Given the description of an element on the screen output the (x, y) to click on. 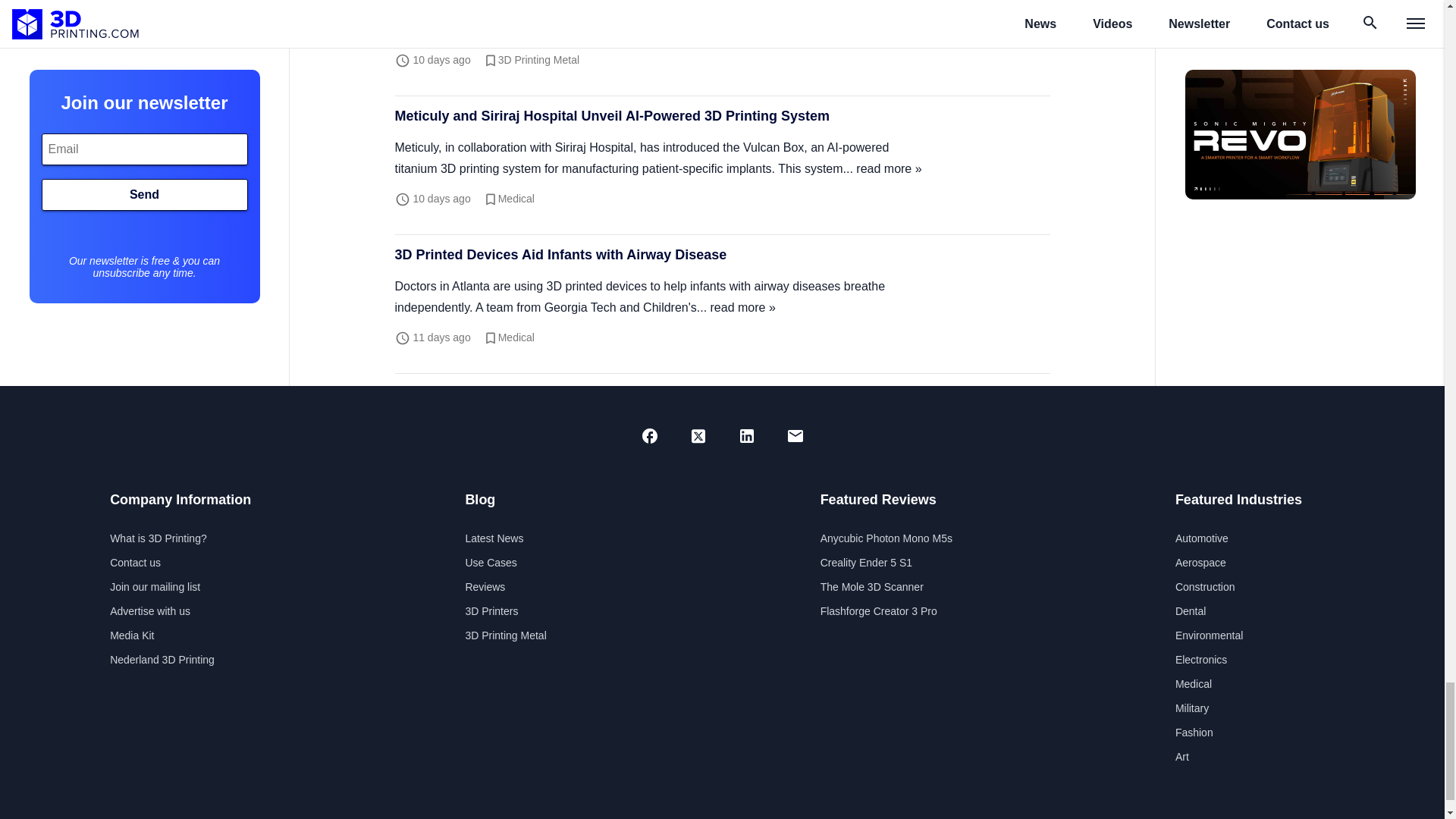
1720713619 (441, 60)
1720612805 (441, 337)
1720710005 (441, 198)
